Given the description of an element on the screen output the (x, y) to click on. 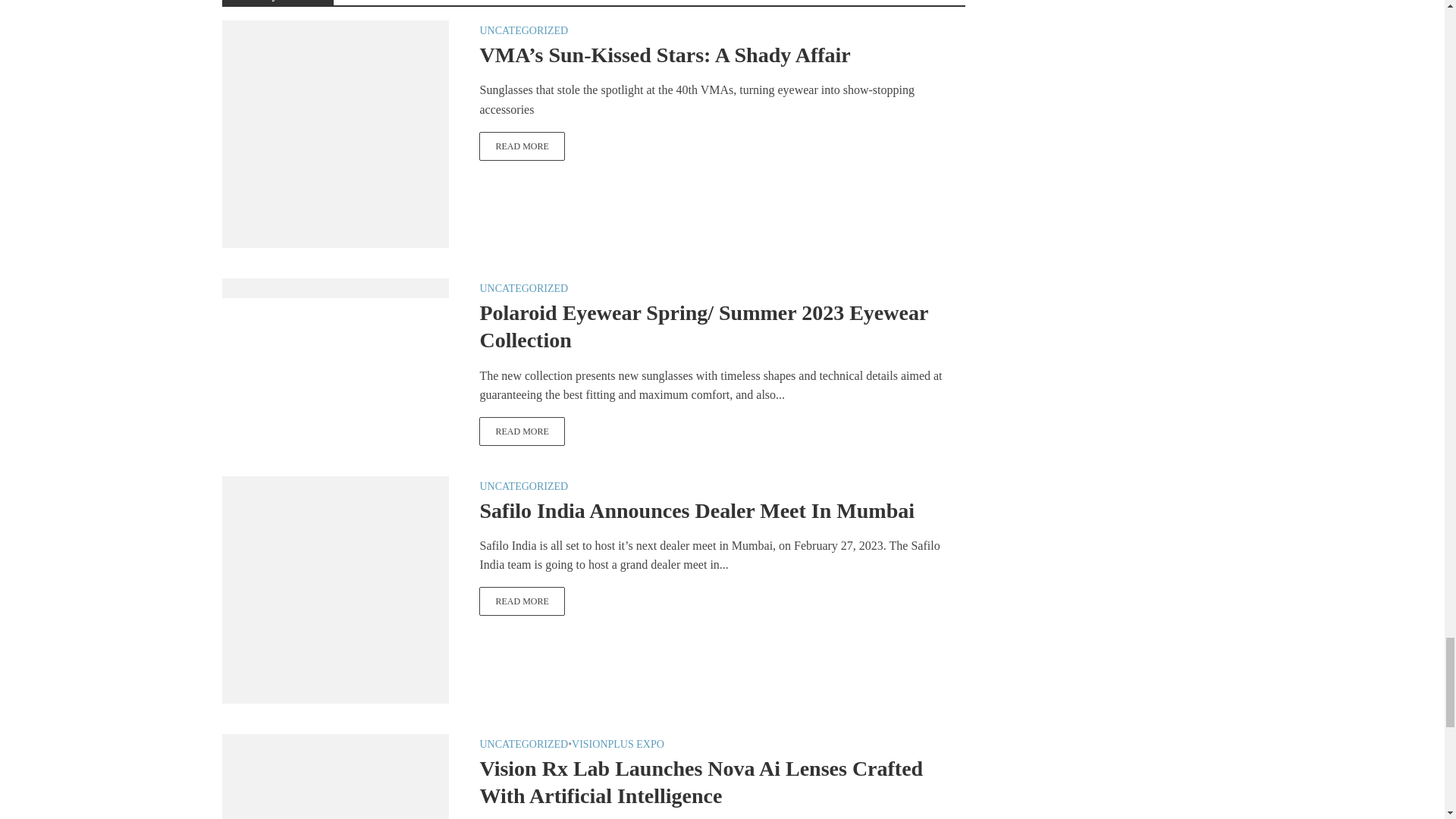
Safilo India Announces Dealer Meet In Mumbai (521, 601)
Safilo India Announces Dealer Meet In Mumbai (334, 587)
